Given the description of an element on the screen output the (x, y) to click on. 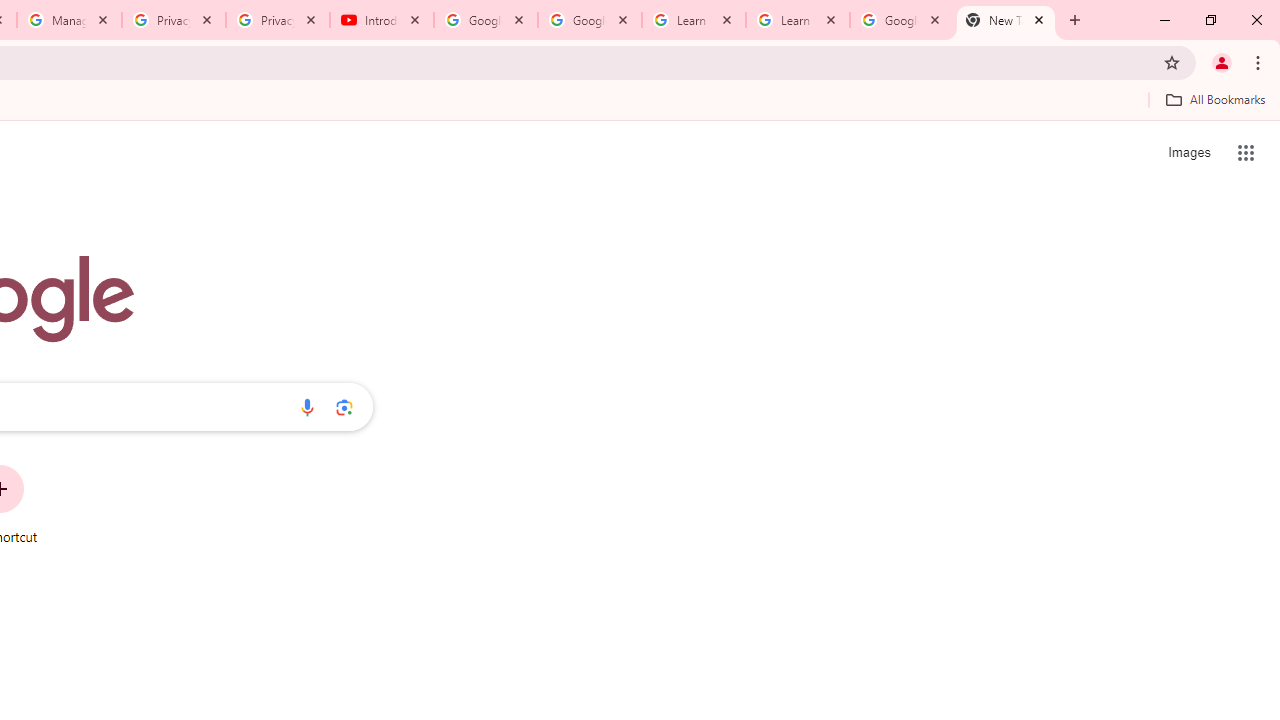
Introduction | Google Privacy Policy - YouTube (381, 20)
Google Account Help (485, 20)
Bookmark this tab (1171, 62)
Google Account (901, 20)
Google Account Help (589, 20)
Search by image (344, 407)
